Given the description of an element on the screen output the (x, y) to click on. 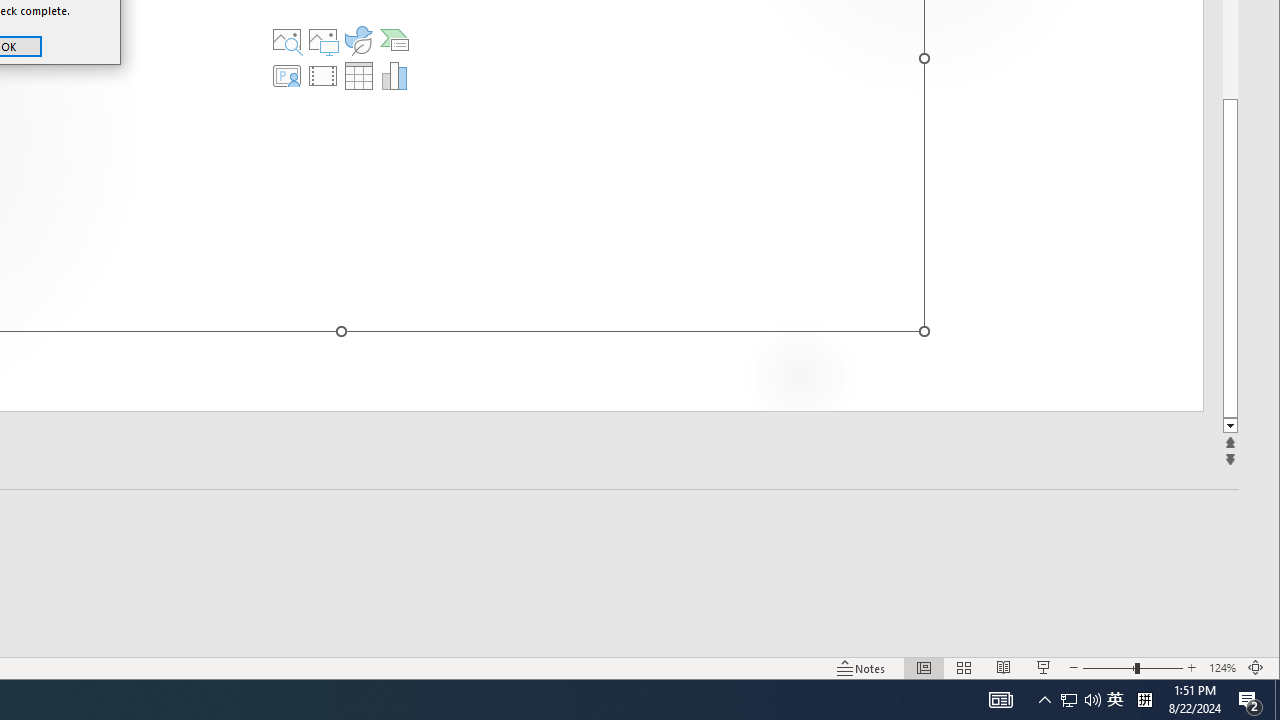
Zoom 124% (1222, 668)
